Given the description of an element on the screen output the (x, y) to click on. 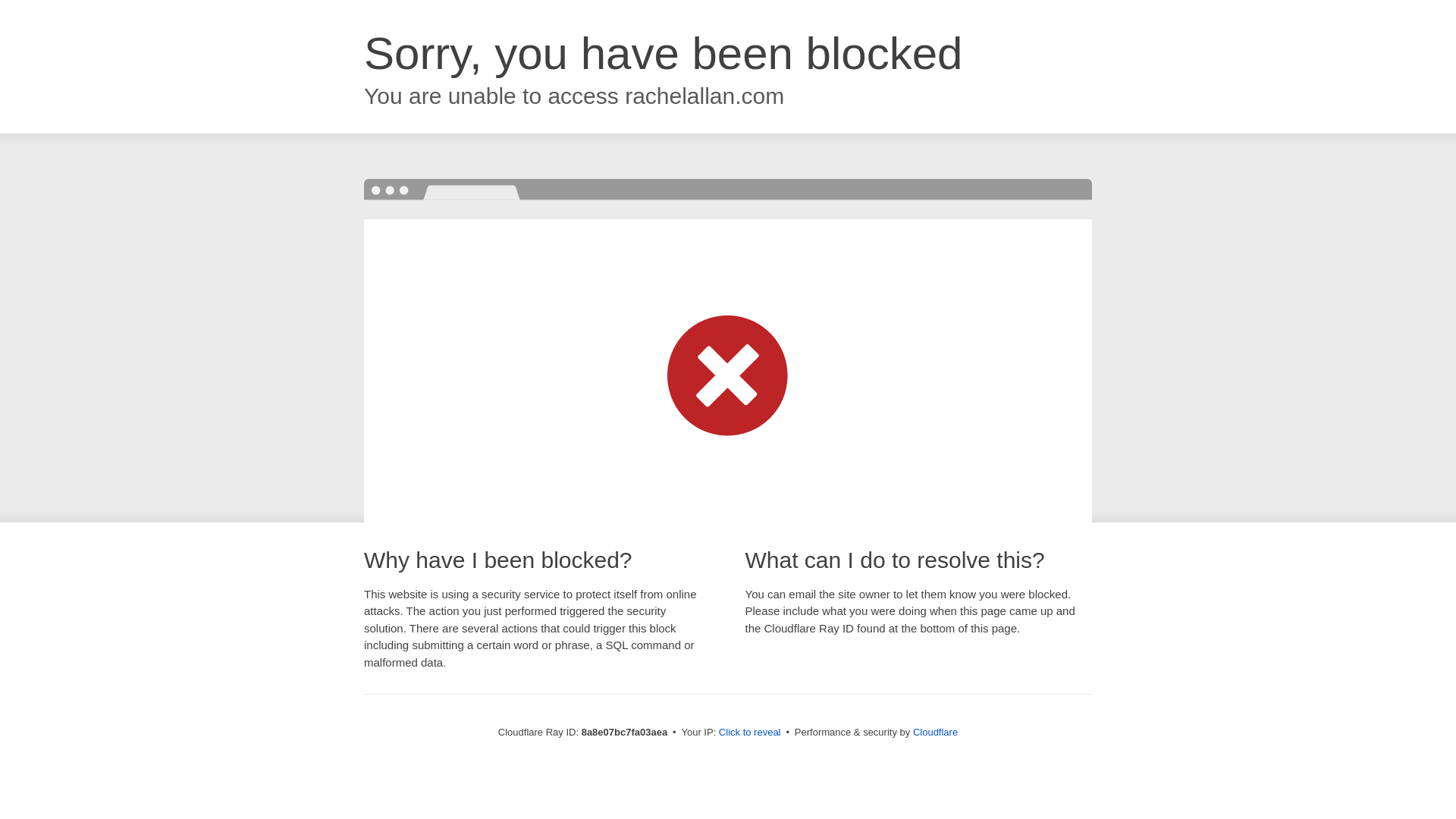
Cloudflare (935, 731)
Click to reveal (749, 732)
